Given the description of an element on the screen output the (x, y) to click on. 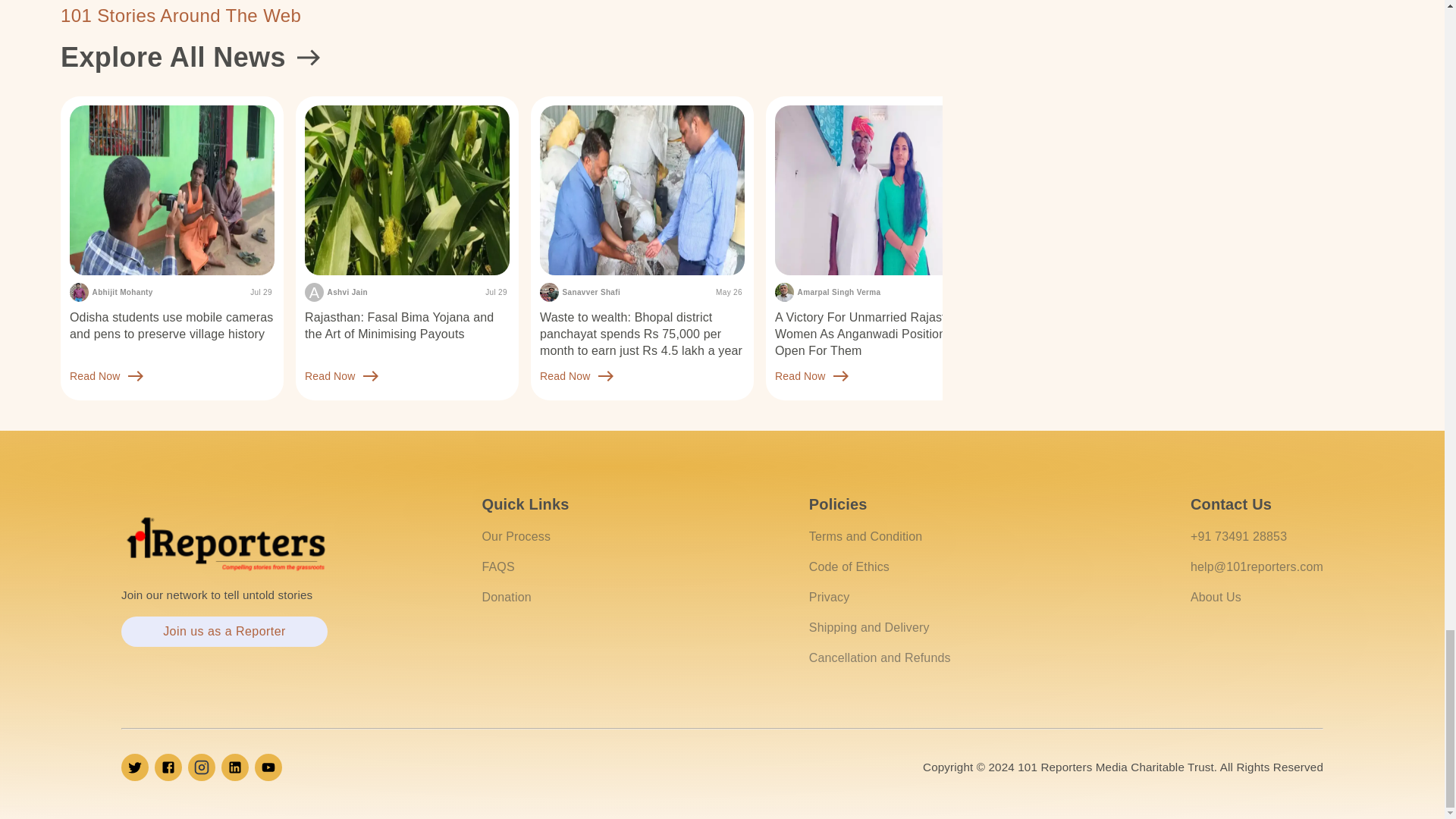
Explore All News (501, 56)
Join us as a Reporter (223, 631)
